Given the description of an element on the screen output the (x, y) to click on. 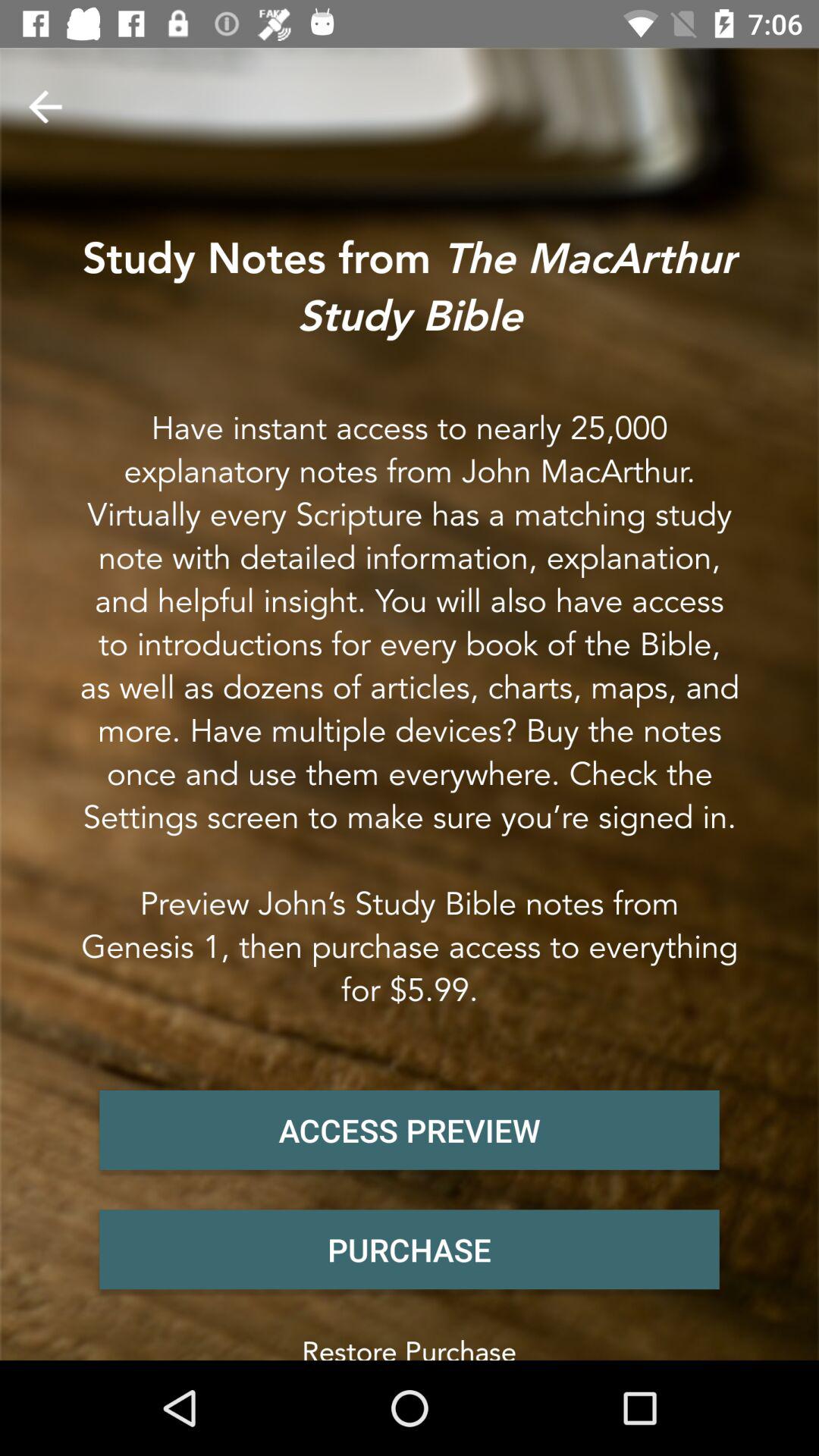
turn off icon at the top left corner (45, 106)
